Given the description of an element on the screen output the (x, y) to click on. 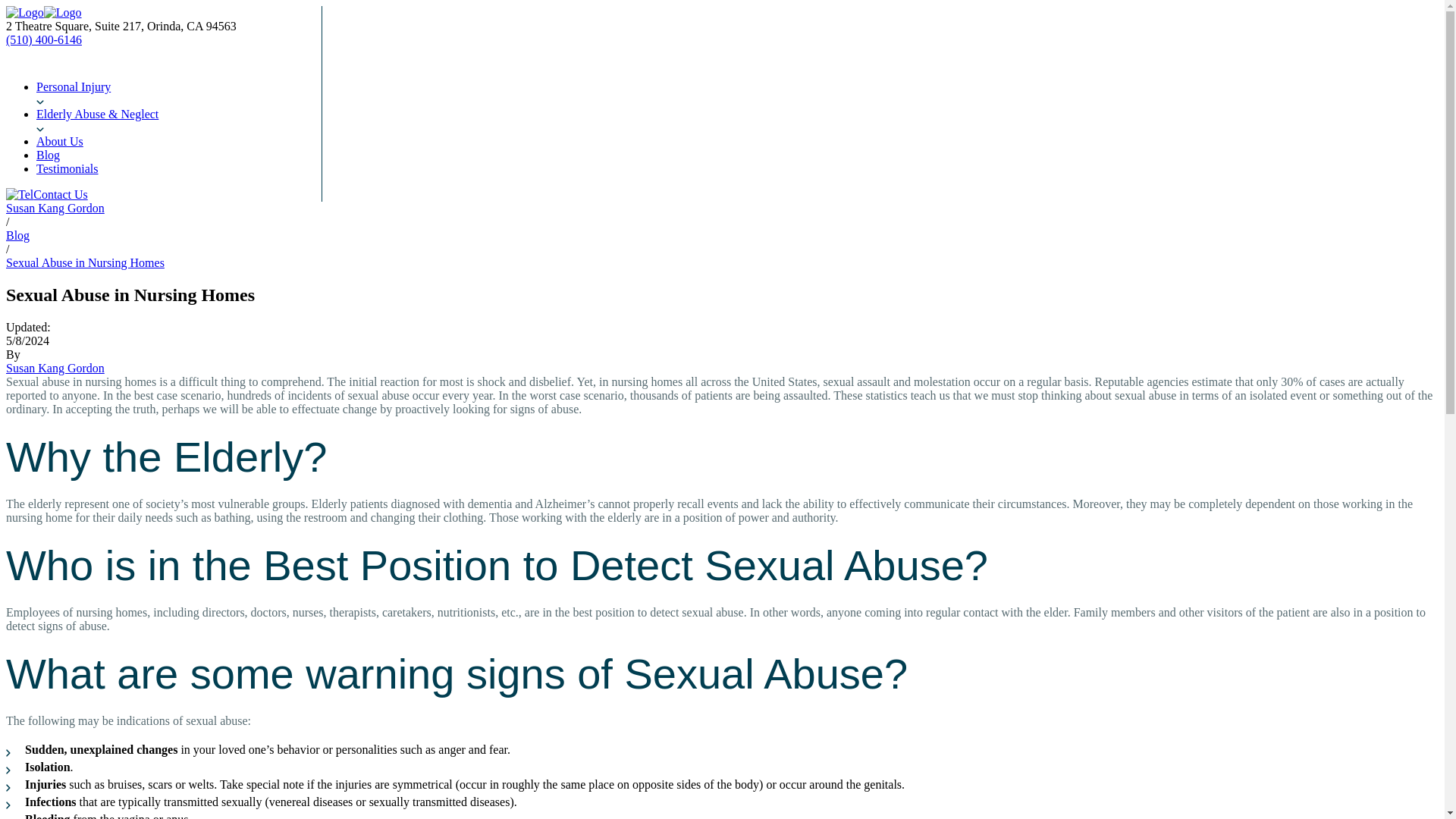
Blog (17, 235)
Sexual Abuse in Nursing Homes (84, 262)
Contact Us (60, 194)
Susan Kang Gordon (54, 207)
Susan Kang Gordon (54, 367)
